Given the description of an element on the screen output the (x, y) to click on. 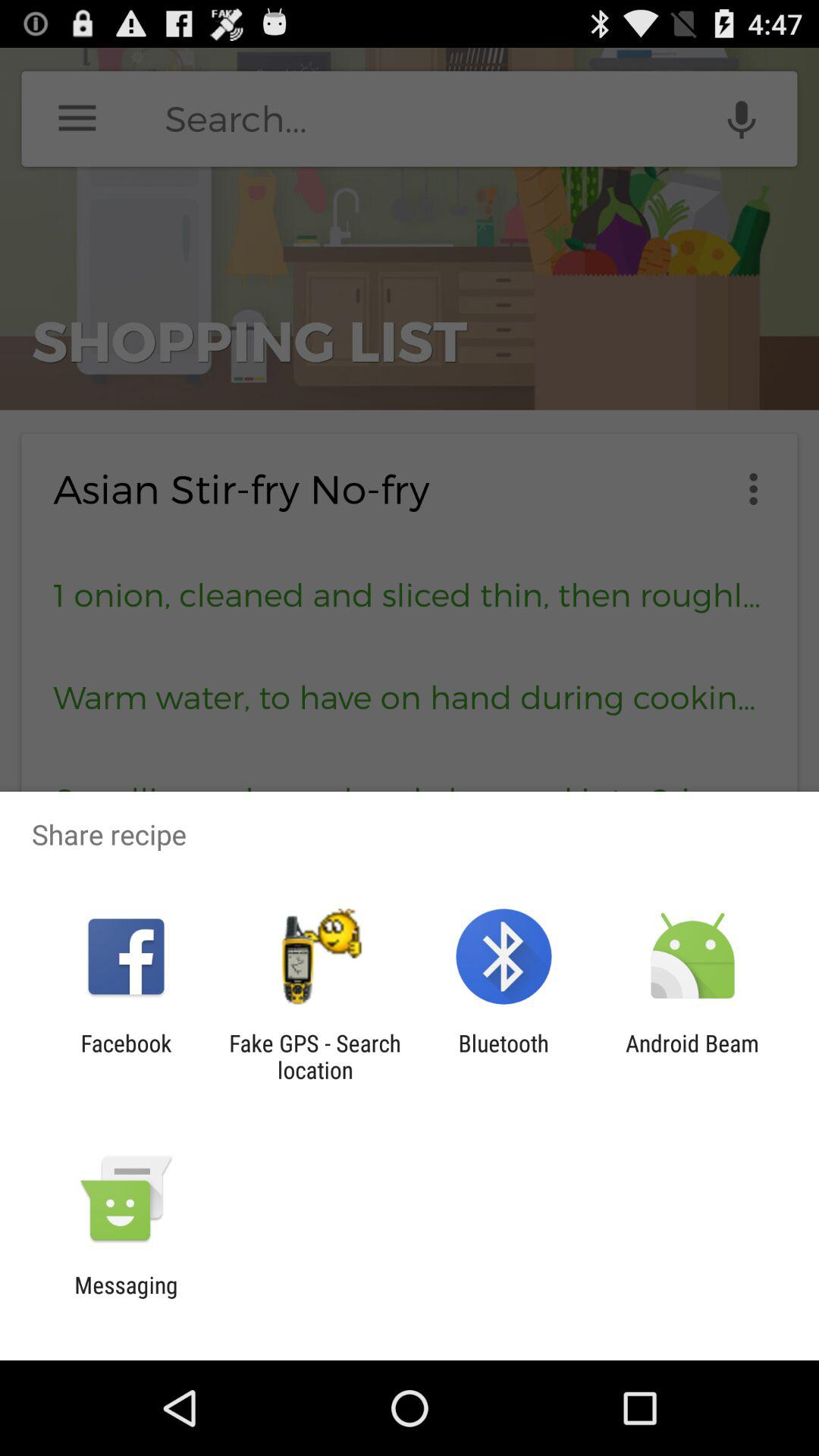
press messaging item (126, 1298)
